Given the description of an element on the screen output the (x, y) to click on. 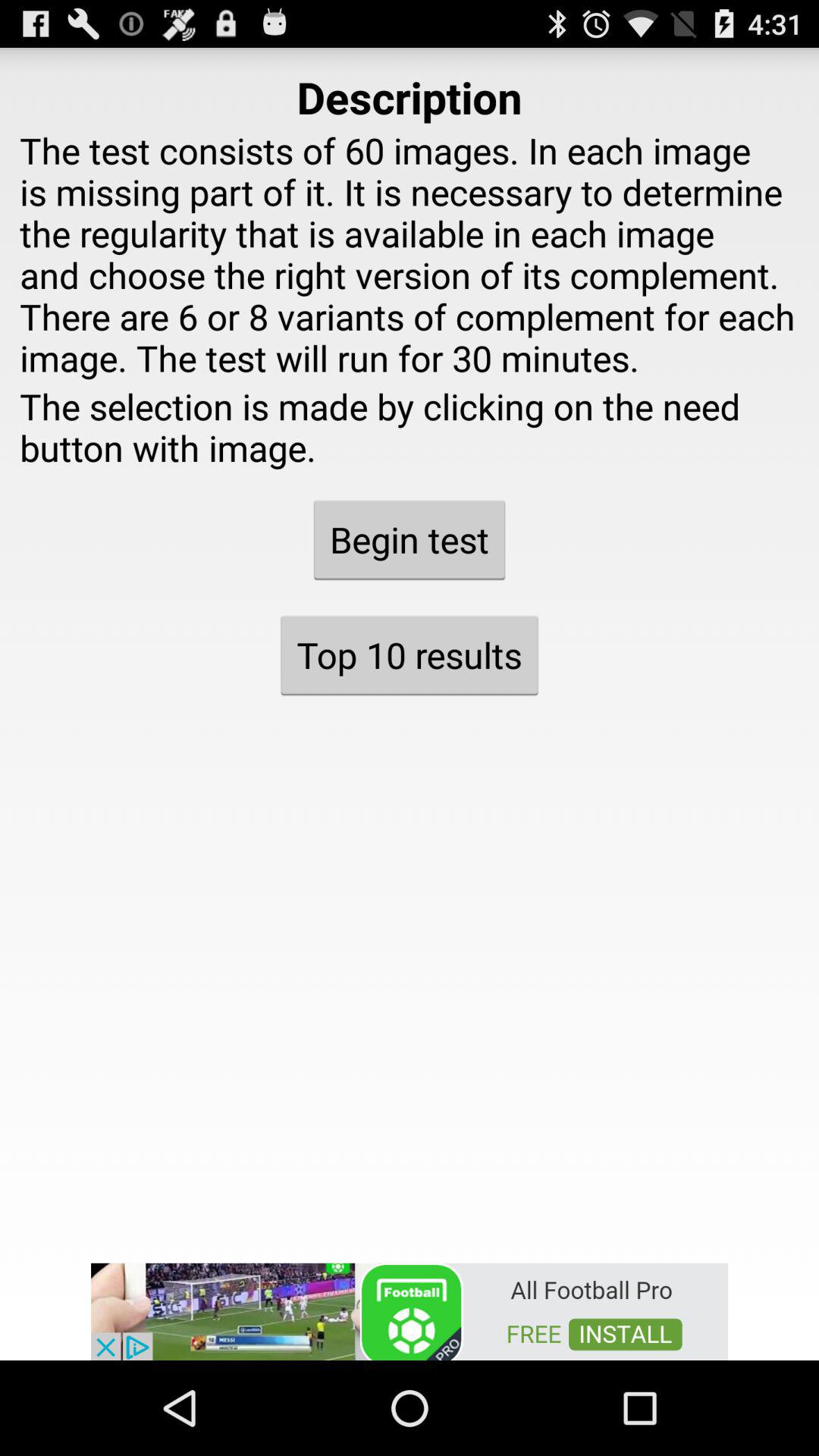
advertisement website (409, 1310)
